Given the description of an element on the screen output the (x, y) to click on. 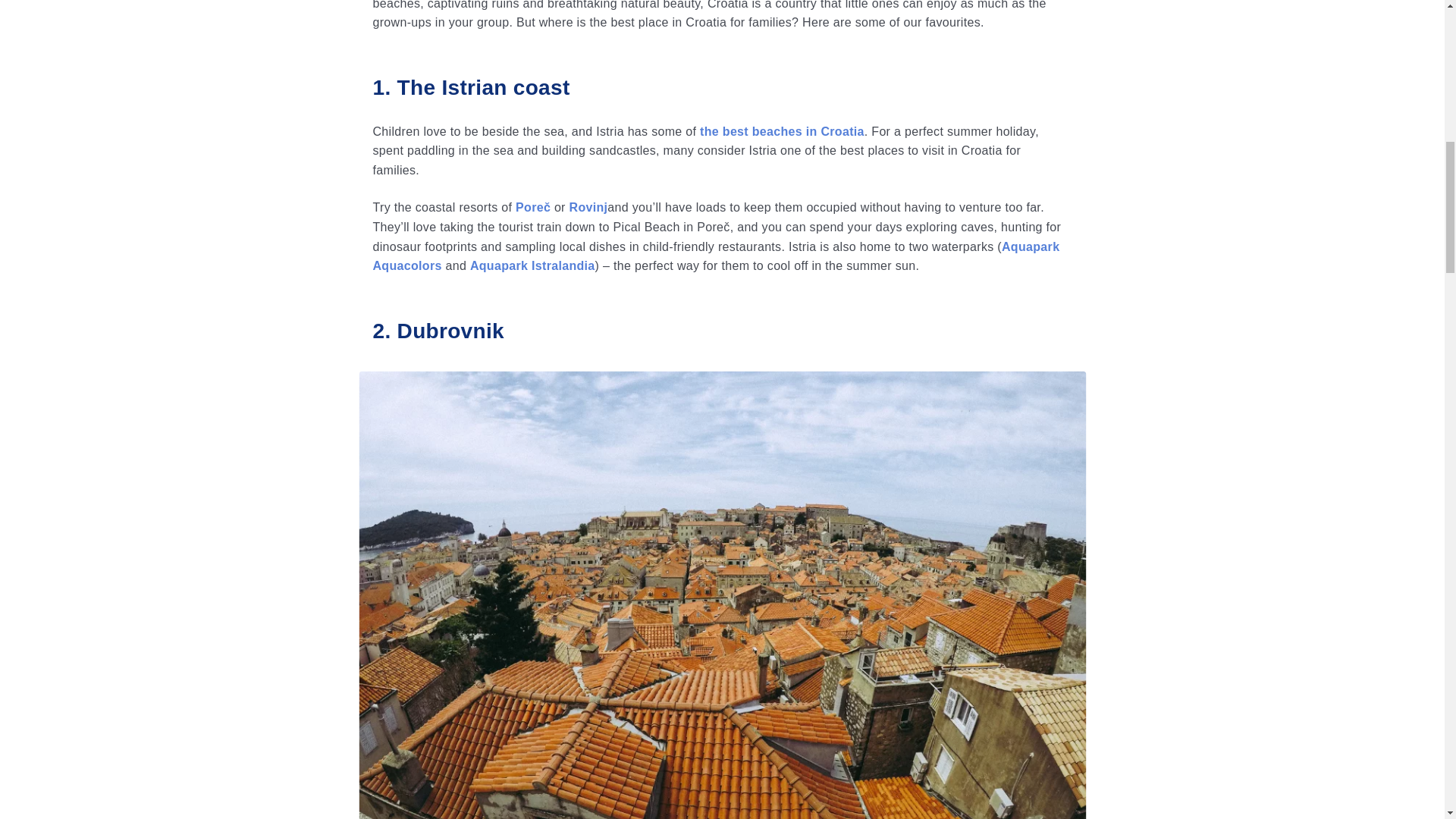
Aquapark Aquacolors (715, 255)
Rovinj (588, 206)
the best beaches in Croatia (782, 131)
Aquapark Istralandia (532, 265)
